Given the description of an element on the screen output the (x, y) to click on. 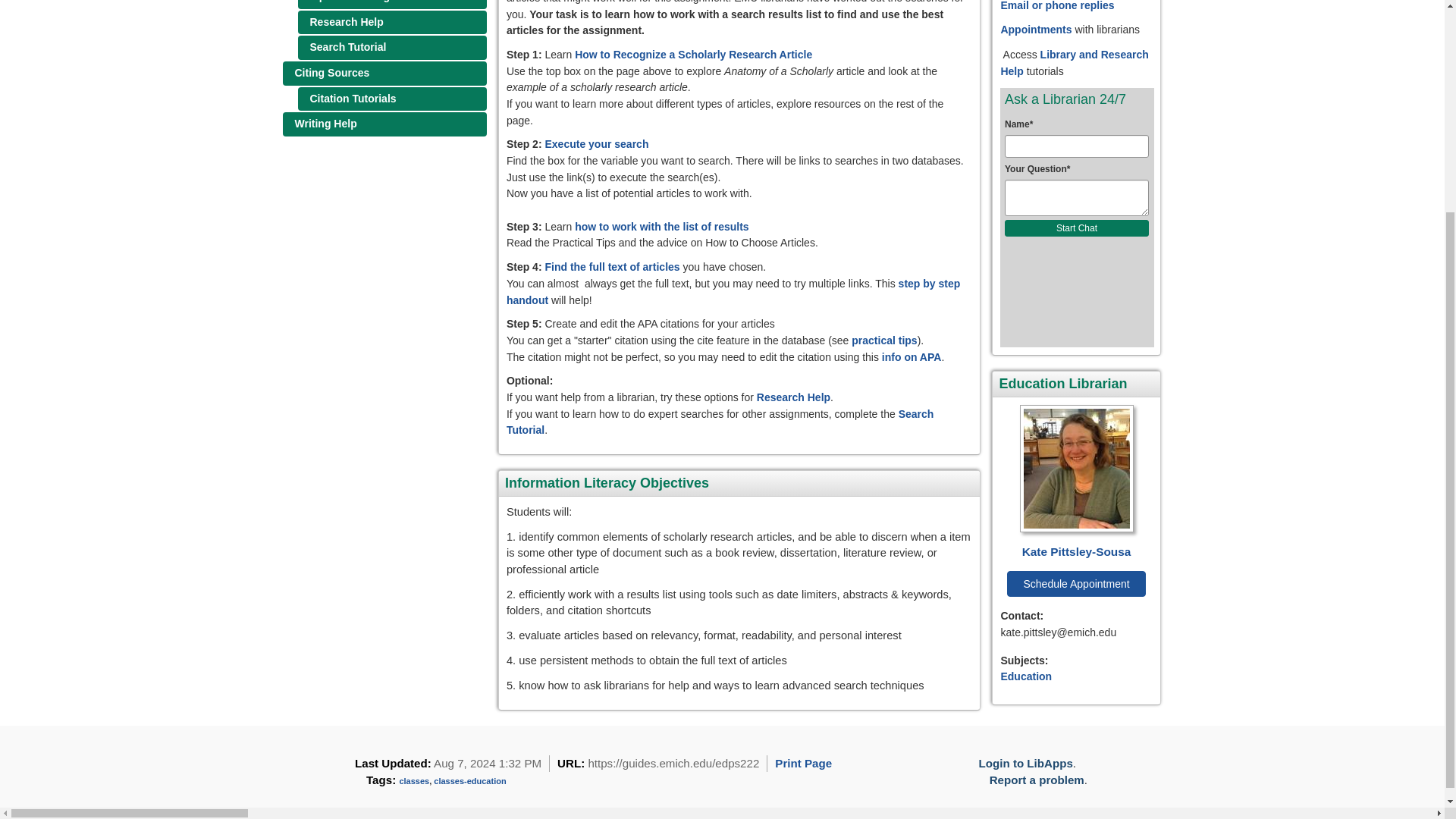
Citation Tutorials (391, 98)
Email or phone replies (1056, 5)
Report a problem (1037, 779)
classes (413, 780)
Kate Pittsley-Sousa (1075, 482)
step by step handout (732, 291)
Schedule Appointment (1075, 583)
Education (1025, 676)
how to work with the list of results (661, 226)
Login to LibApps (1025, 762)
